Given the description of an element on the screen output the (x, y) to click on. 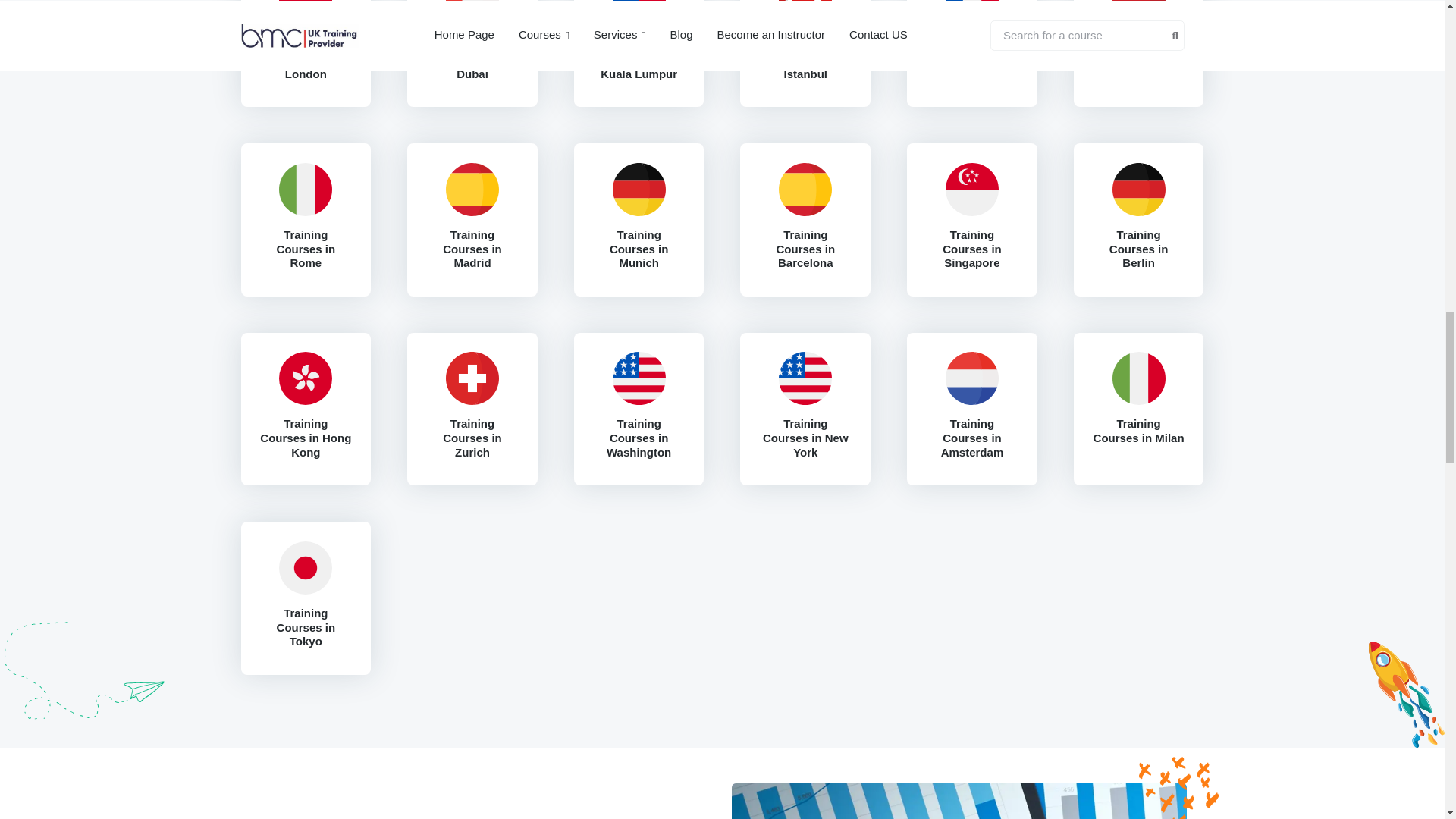
Discover Top training courses in Berlin (1138, 189)
Discover Top training courses in Madrid (472, 189)
Discover Top training courses in Istanbul (805, 13)
Discover Top training courses in Munich (639, 189)
Discover Top training courses in Barcelona (805, 189)
Discover Top training courses in Singapore (972, 189)
Discover Top training courses in Dubai (472, 13)
Discover Top training courses in Hong Kong (305, 378)
Discover Top training courses in Washington (639, 378)
Discover Top training courses in Zurich (472, 378)
Discover Top training courses in New York (805, 378)
Discover Top training courses in Bali (1138, 13)
Discover Top training courses in Rome (305, 189)
Discover Top training courses in London (305, 13)
Discover Top training courses in Paris (972, 13)
